Given the description of an element on the screen output the (x, y) to click on. 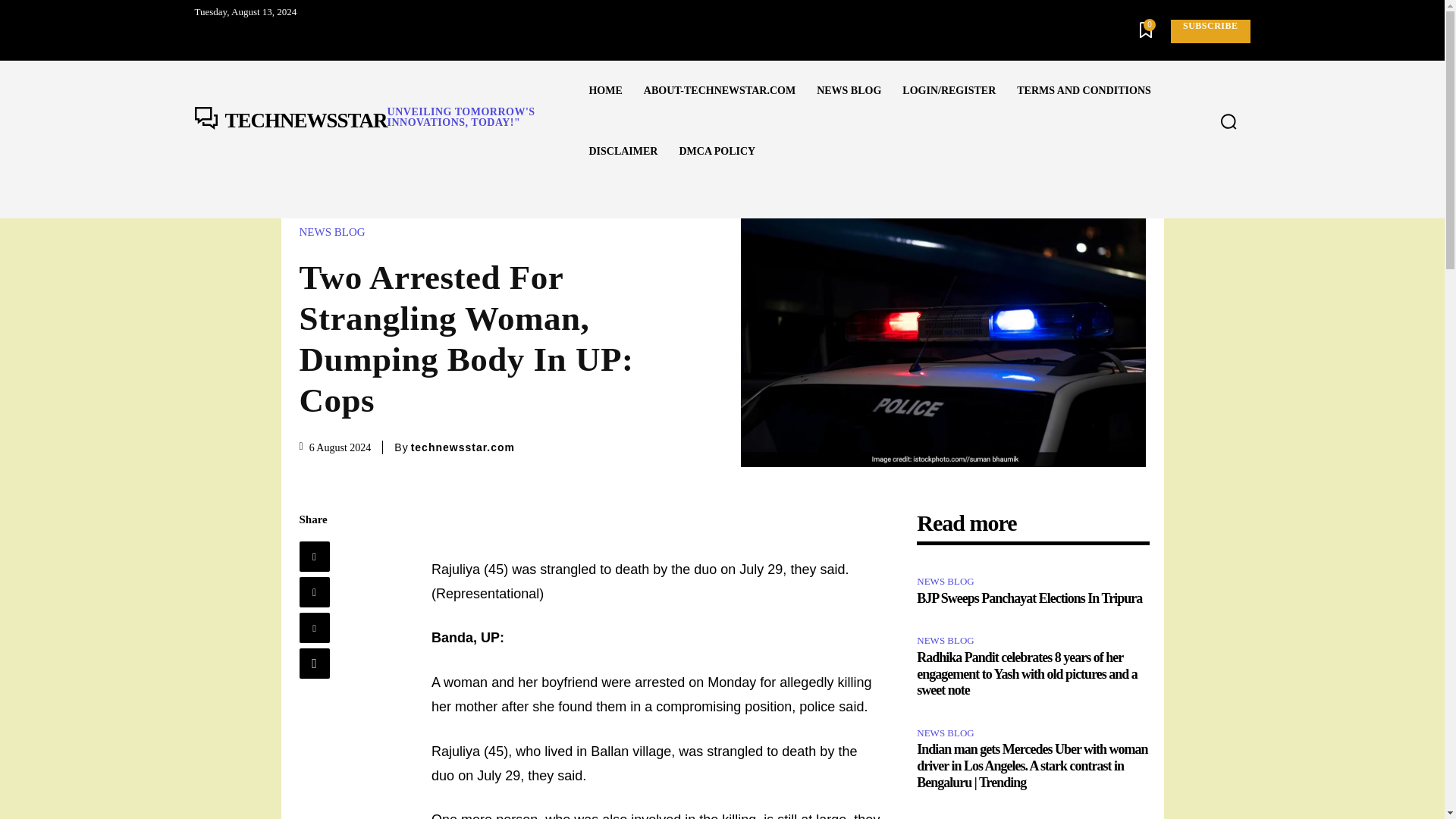
technewsstar.com (462, 447)
DMCA POLICY (716, 151)
NEWS BLOG (335, 232)
ABOUT-TECHNEWSTAR.COM (719, 90)
TERMS AND CONDITIONS (1083, 90)
Pinterest (313, 627)
Subscribe (385, 121)
WhatsApp (1210, 31)
